Given the description of an element on the screen output the (x, y) to click on. 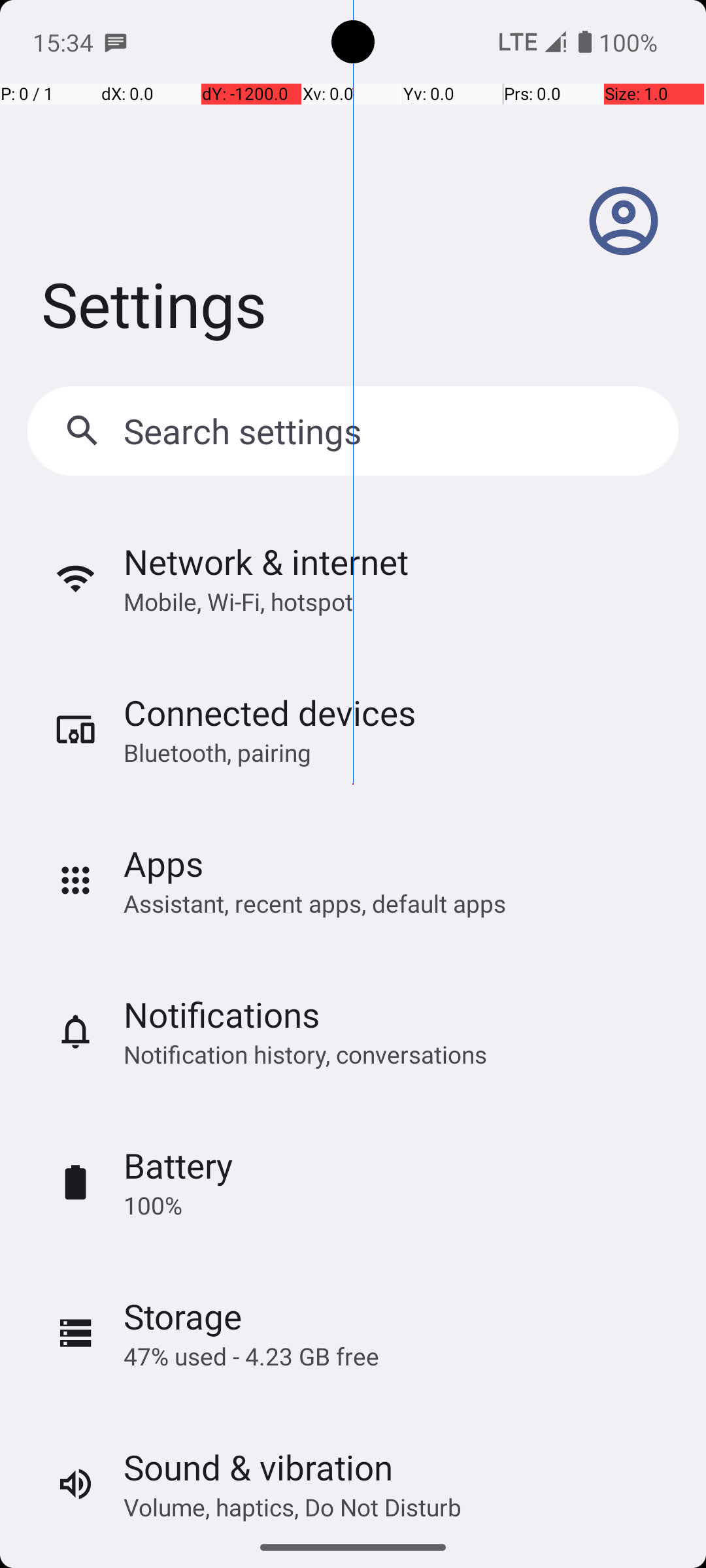
47% used - 4.23 GB free Element type: android.widget.TextView (251, 1355)
